Given the description of an element on the screen output the (x, y) to click on. 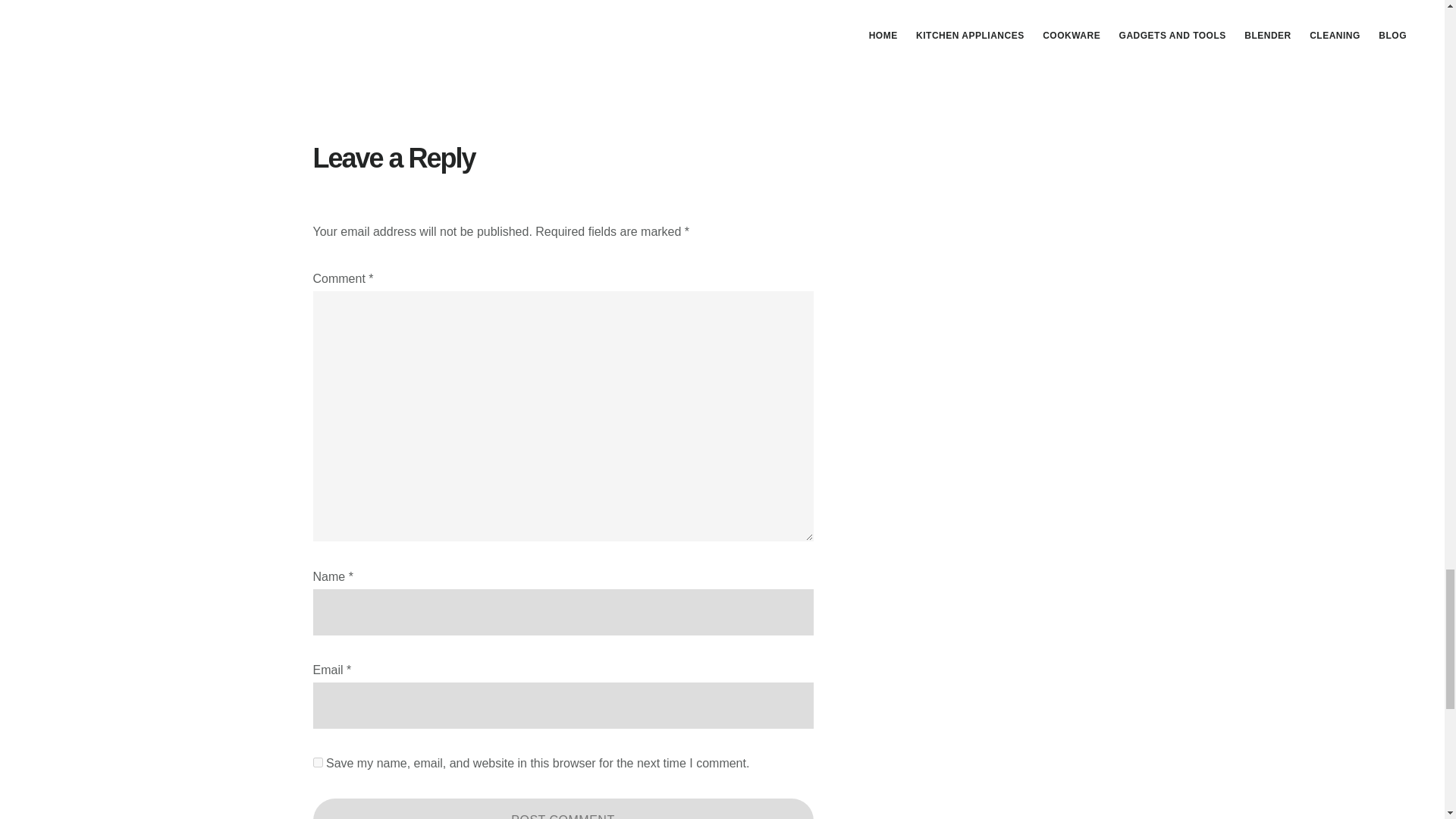
Post Comment (562, 808)
MeWe (607, 50)
yes (317, 762)
Twitter (489, 50)
Linkedin (518, 50)
Facebook (458, 50)
Post Comment (562, 808)
More (666, 50)
Pinterest (548, 50)
Parler (636, 50)
Reddit (577, 50)
